Given the description of an element on the screen output the (x, y) to click on. 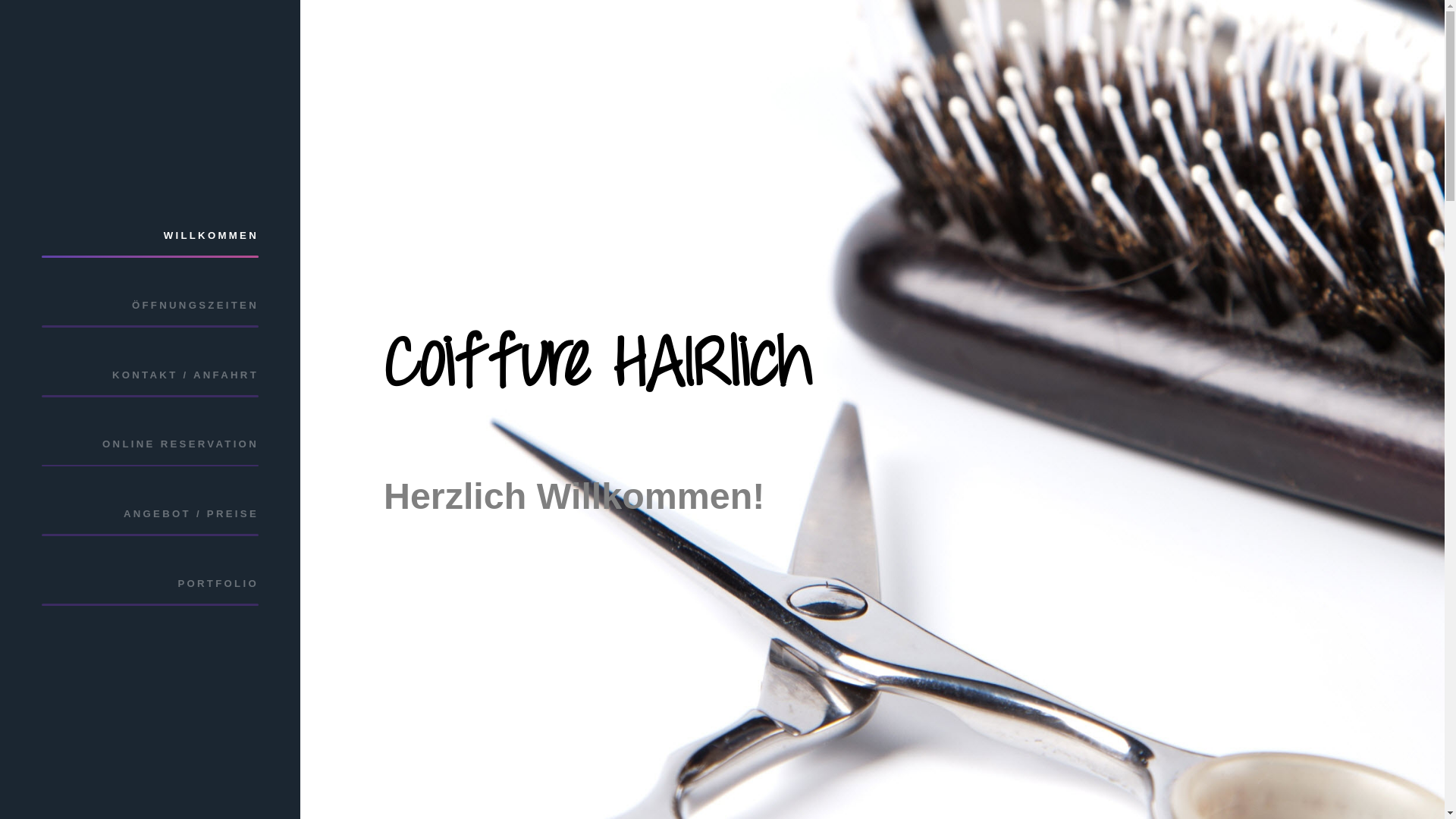
WILLKOMMEN Element type: text (149, 235)
PORTFOLIO Element type: text (149, 583)
ONLINE RESERVATION Element type: text (149, 443)
ANGEBOT / PREISE Element type: text (149, 513)
KONTAKT / ANFAHRT Element type: text (149, 374)
